Given the description of an element on the screen output the (x, y) to click on. 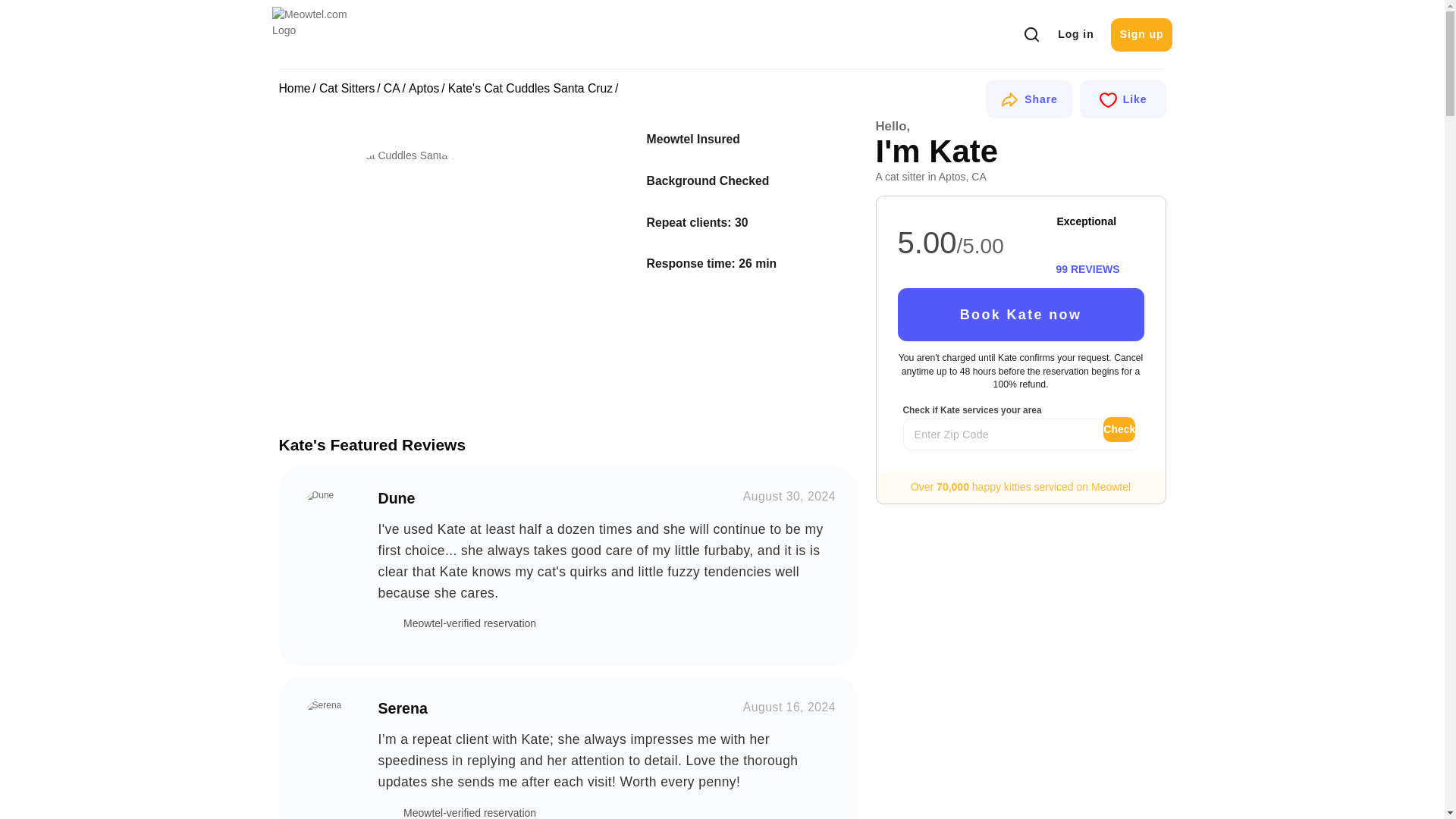
Meowtel.com Logo (321, 32)
Book Kate now (1021, 314)
Book Kate now (1021, 314)
Cat Sitters (346, 88)
Log in (1075, 34)
Home (295, 88)
Kate's Cat Cuddles Santa Cruz (408, 242)
Aptos (424, 88)
Aptos (424, 88)
Sign up (1141, 34)
